Given the description of an element on the screen output the (x, y) to click on. 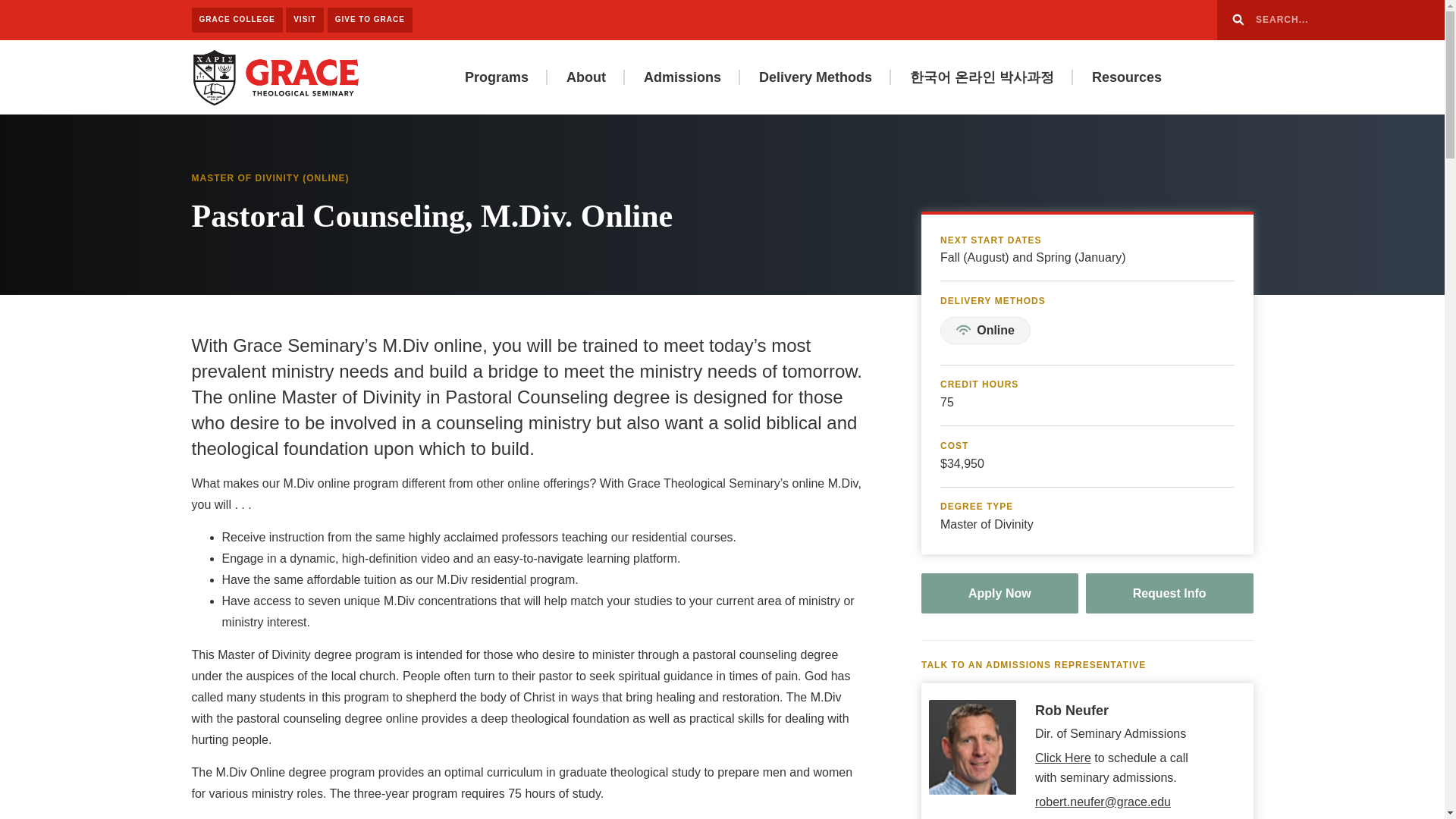
Grace Theological Seminary (274, 76)
Programs (496, 77)
VISIT (304, 19)
GRACE COLLEGE (236, 19)
GIVE TO GRACE (369, 19)
